Given the description of an element on the screen output the (x, y) to click on. 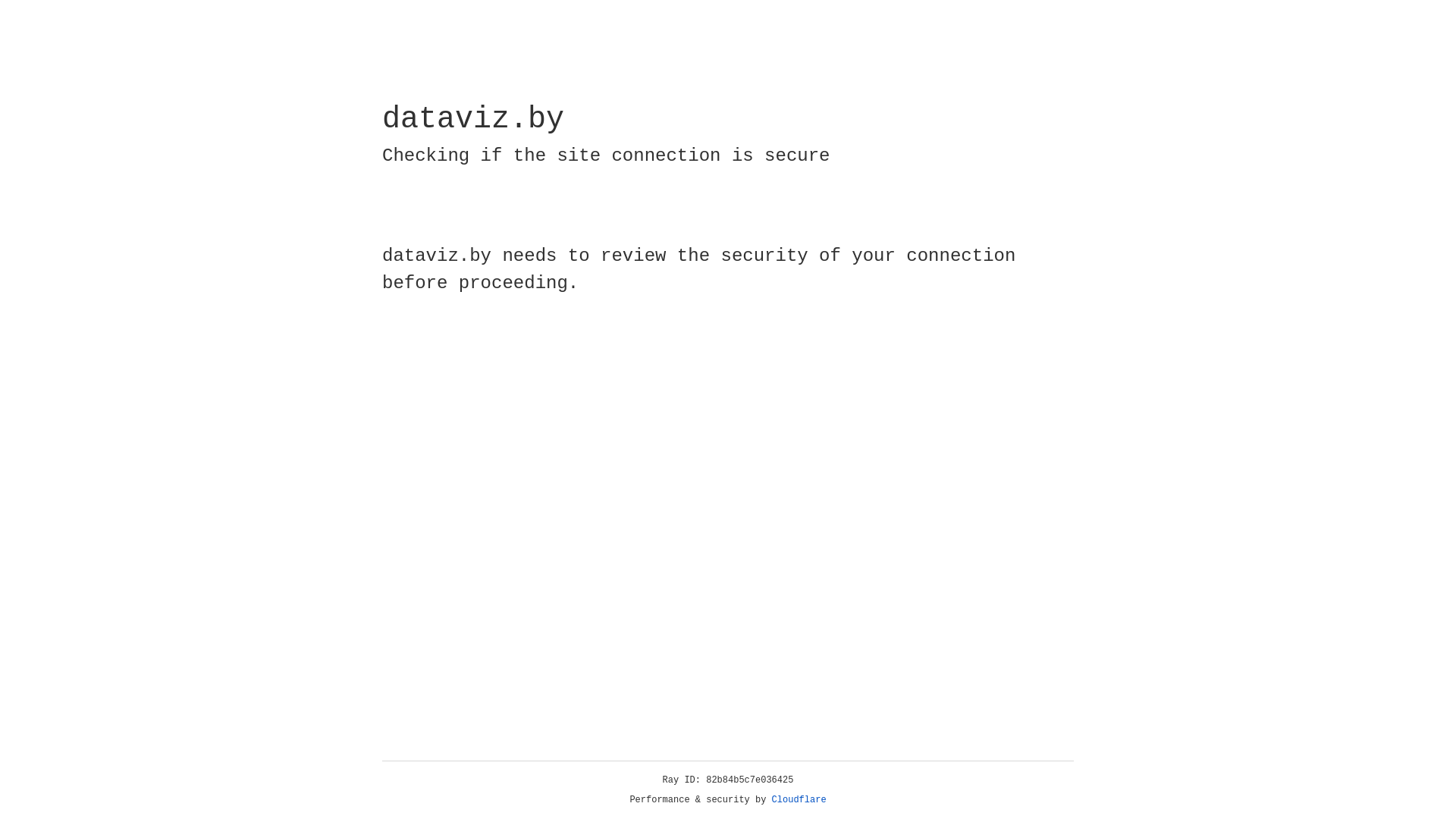
Cloudflare Element type: text (798, 799)
